Given the description of an element on the screen output the (x, y) to click on. 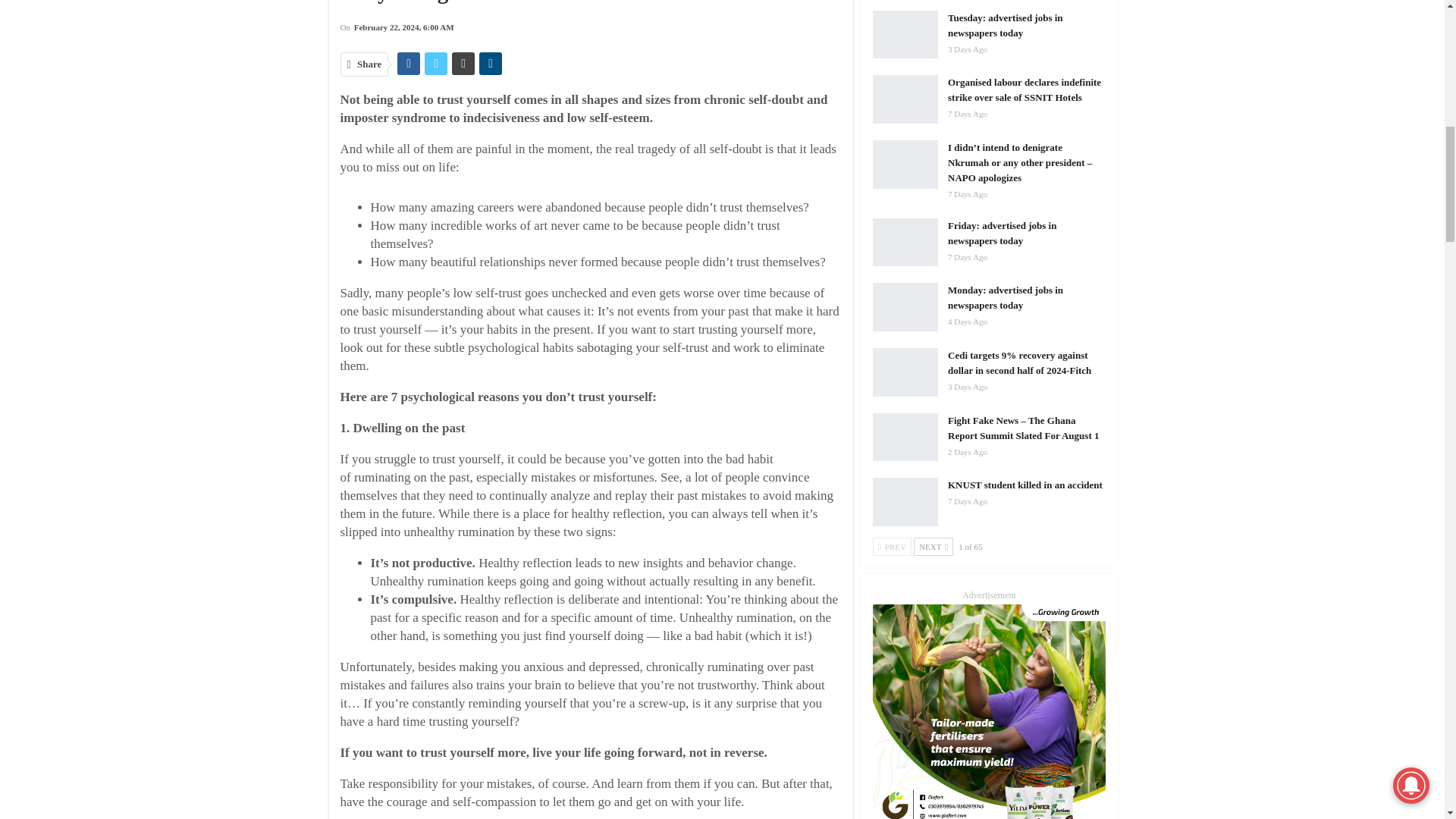
Tuesday: advertised jobs in newspapers today (904, 34)
